Given the description of an element on the screen output the (x, y) to click on. 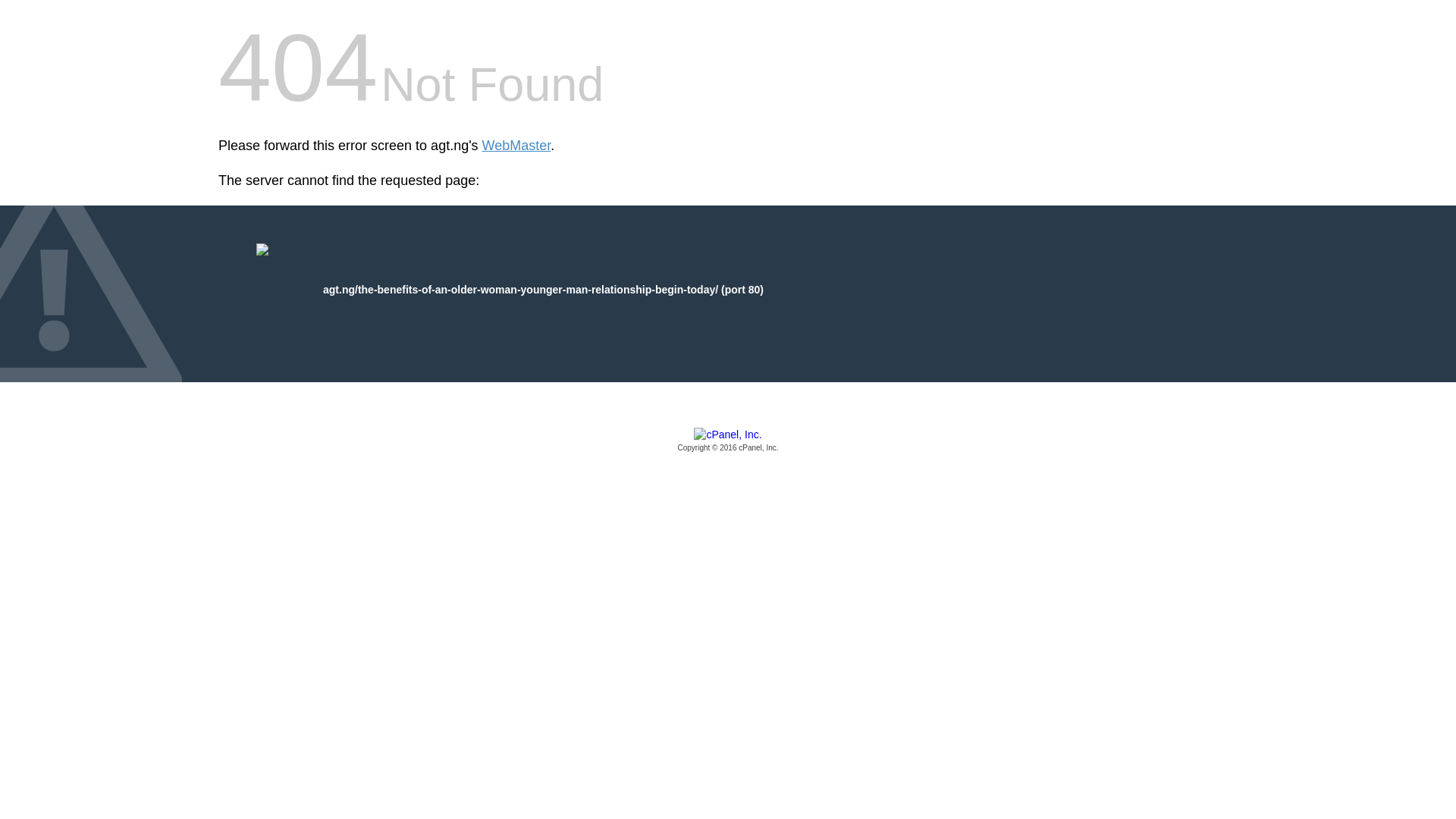
WebMaster (516, 145)
cPanel, Inc. (727, 440)
